Given the description of an element on the screen output the (x, y) to click on. 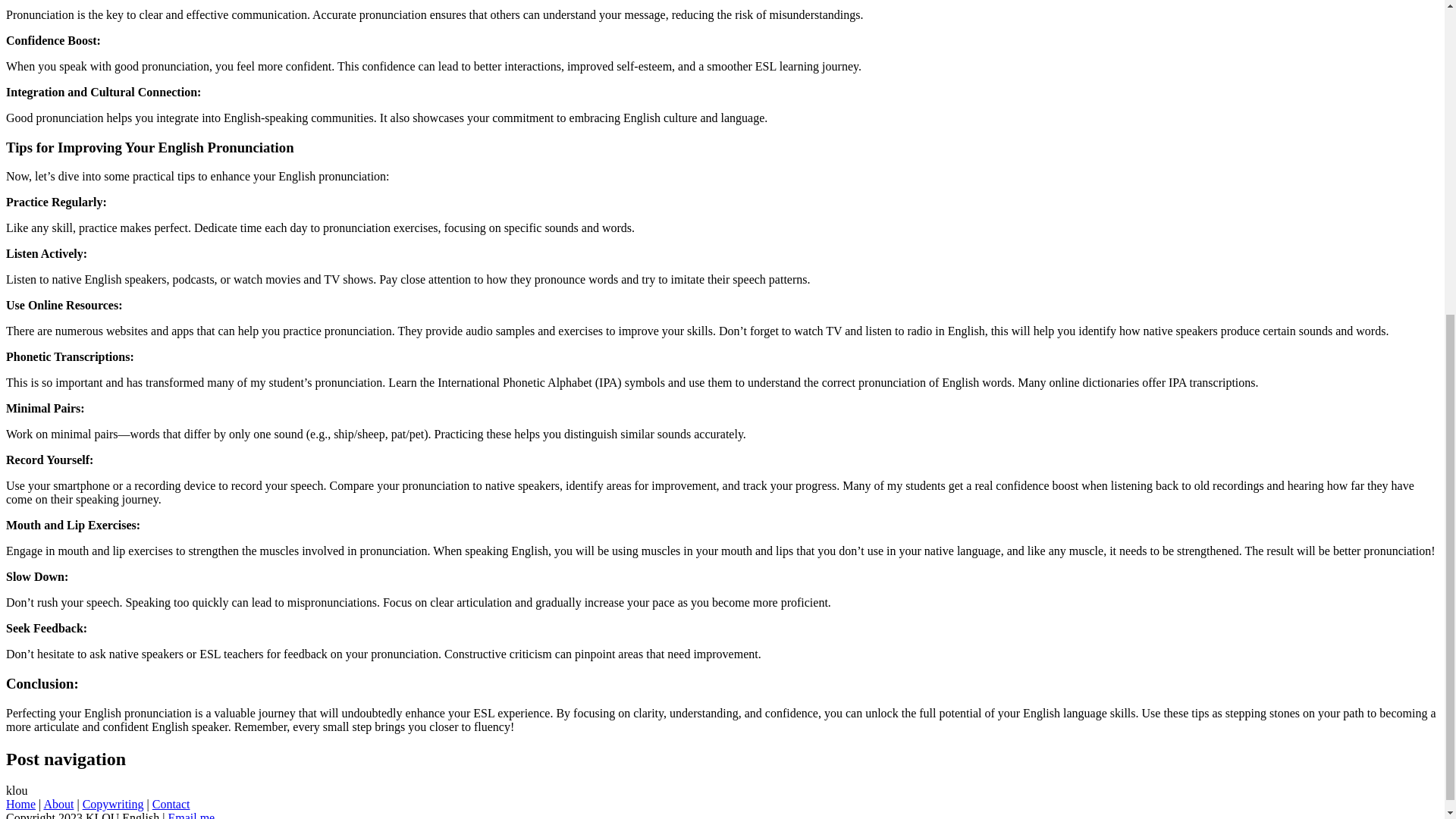
Copywriting (113, 803)
Contact (171, 803)
About (58, 803)
Home (19, 803)
